Given the description of an element on the screen output the (x, y) to click on. 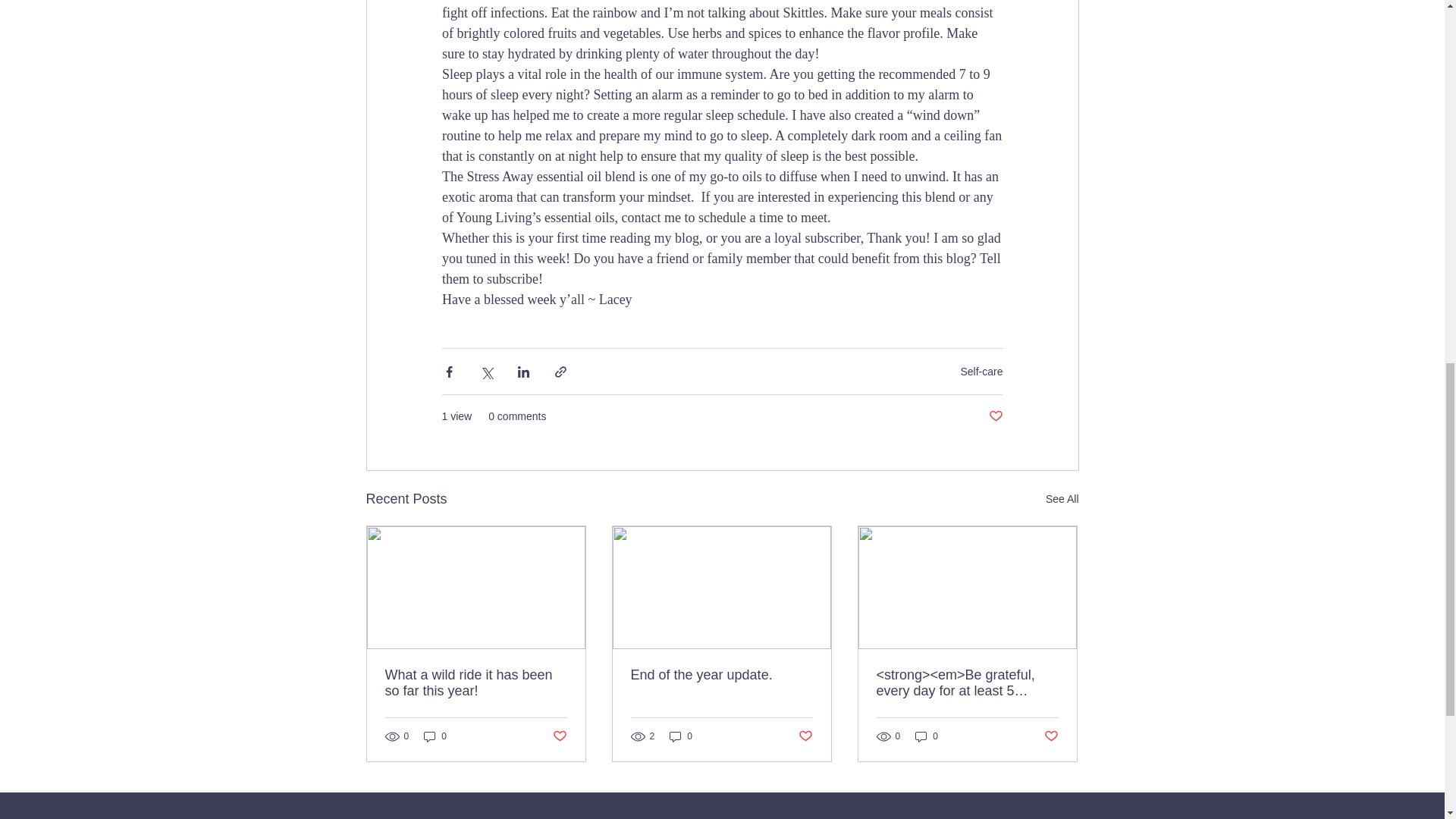
0 (681, 736)
See All (1061, 499)
0 (435, 736)
Self-care (981, 371)
End of the year update. (721, 675)
Post not marked as liked (995, 416)
Post not marked as liked (804, 736)
What a wild ride it has been so far this year! (476, 683)
Post not marked as liked (558, 736)
